Given the description of an element on the screen output the (x, y) to click on. 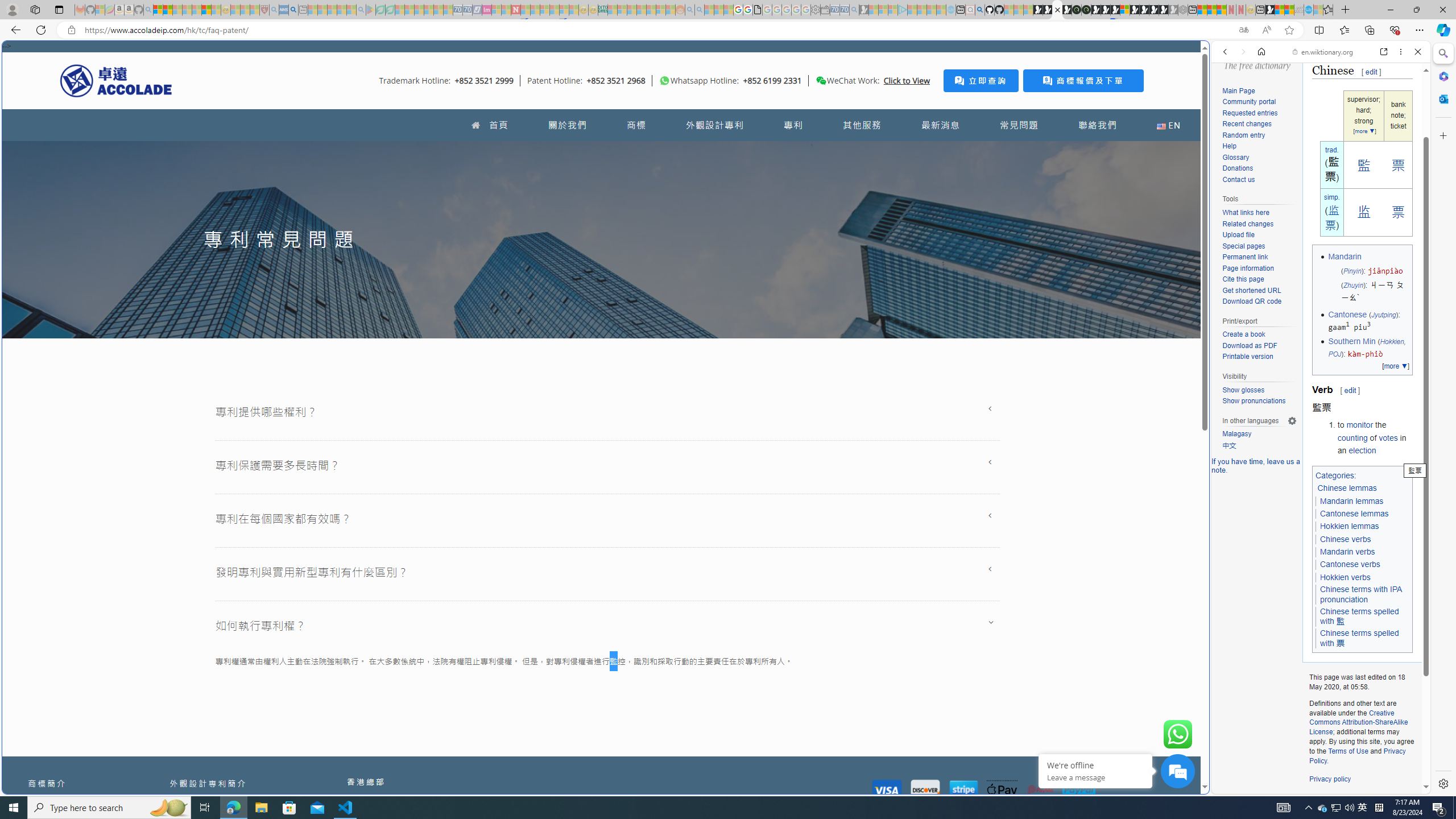
Chinese verbs (1345, 538)
Sign in to your account (1124, 9)
Accolade IP HK Logo (116, 80)
github - Search (979, 9)
Main Page (1238, 90)
Privacy policy (1329, 779)
